Given the description of an element on the screen output the (x, y) to click on. 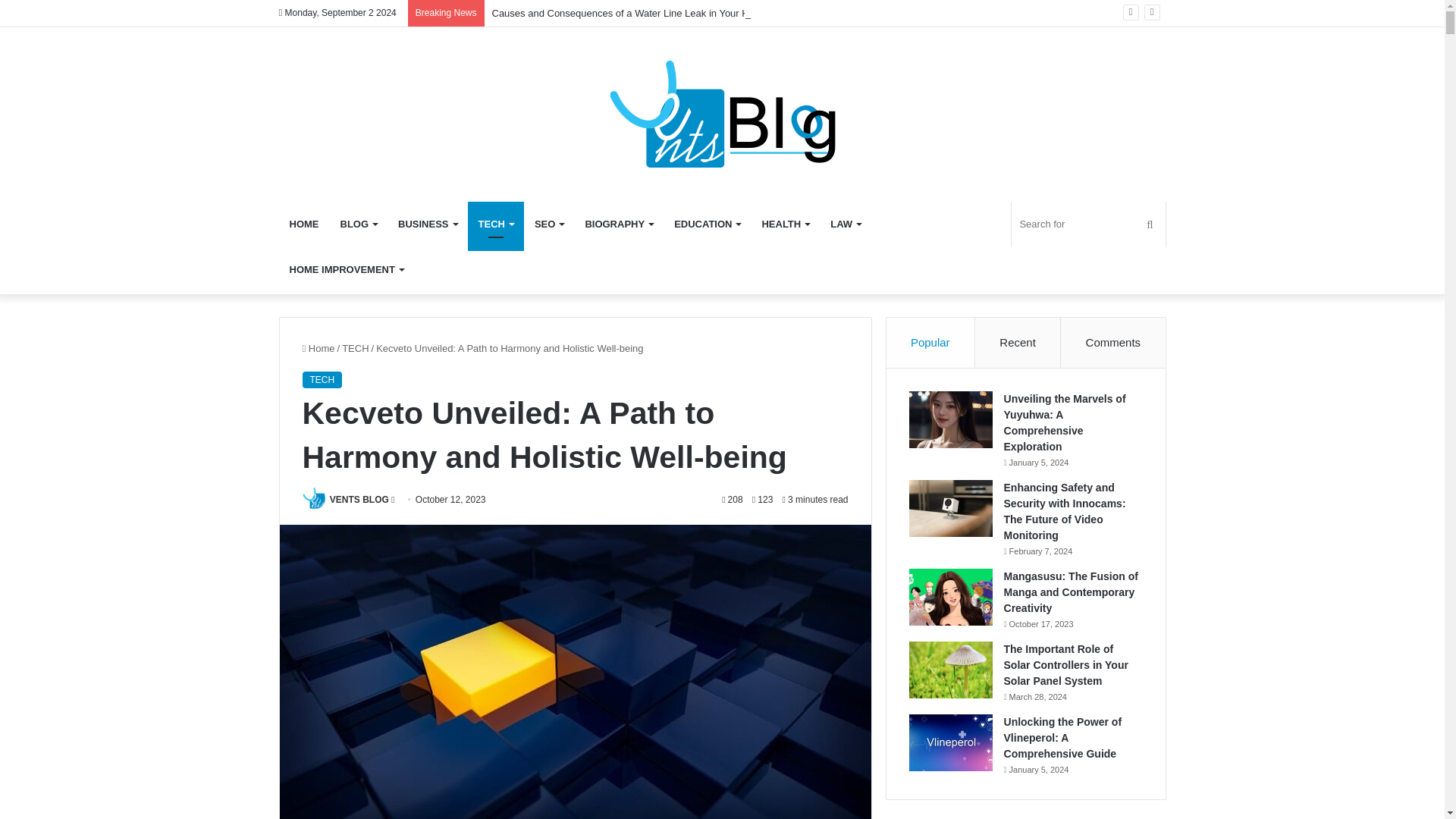
VENTS BLOG (359, 499)
LAW (844, 224)
TECH (355, 348)
BIOGRAPHY (618, 224)
VENTS BLOG (359, 499)
SEO (548, 224)
BUSINESS (427, 224)
BLOG (358, 224)
HOME IMPROVEMENT (346, 269)
HOME (304, 224)
